Given the description of an element on the screen output the (x, y) to click on. 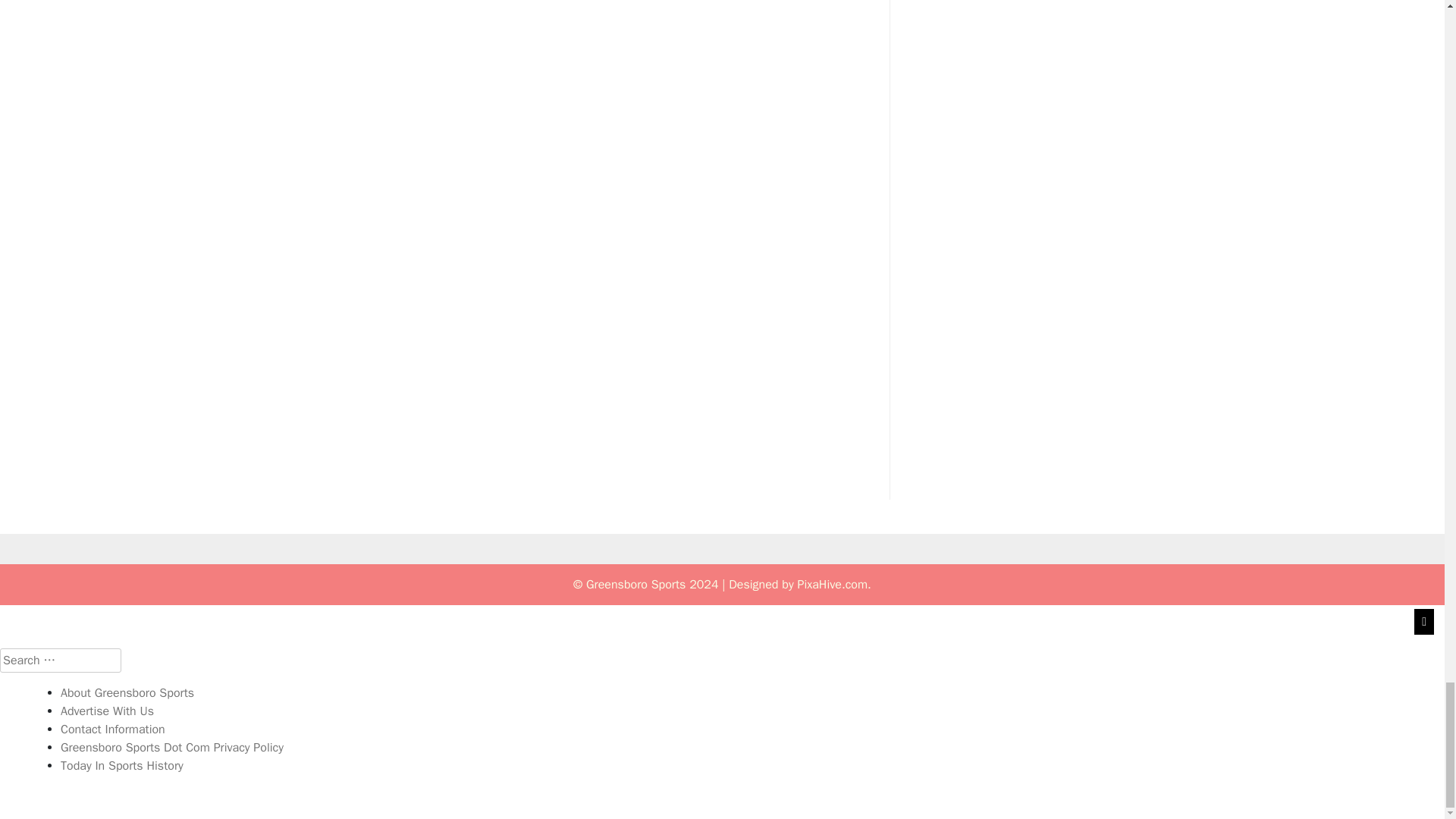
Advertise With Us (107, 711)
Contact Information (113, 729)
About Greensboro Sports (127, 693)
Today In Sports History (122, 765)
Greensboro Sports Dot Com Privacy Policy (172, 747)
PixaHive.com (831, 584)
